Given the description of an element on the screen output the (x, y) to click on. 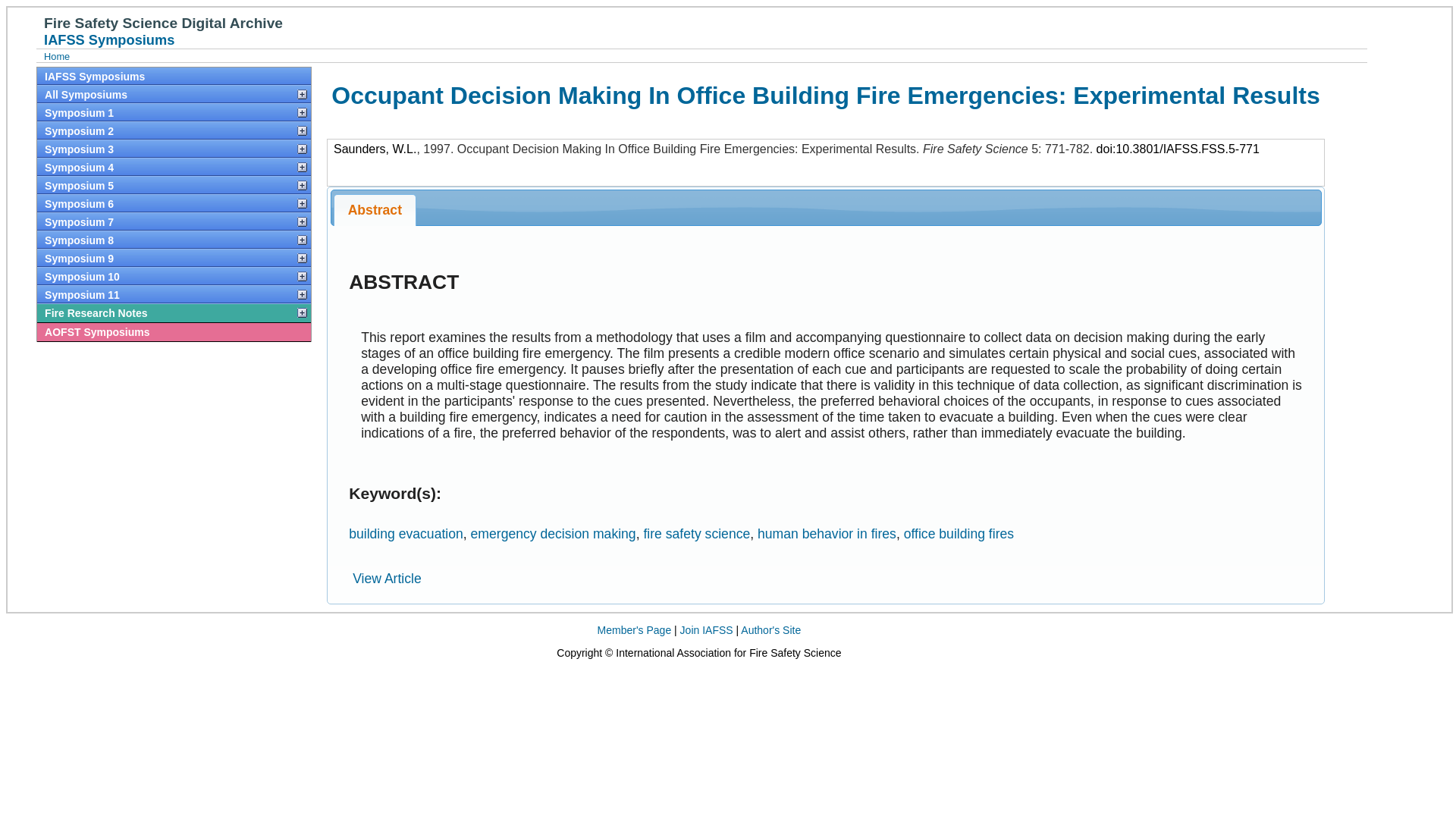
Symposium 1 (174, 113)
Home (56, 56)
All Symposiums (174, 94)
IAFSS Symposiums (174, 76)
Symposium 2 (174, 131)
Symposium 3 (174, 149)
